Given the description of an element on the screen output the (x, y) to click on. 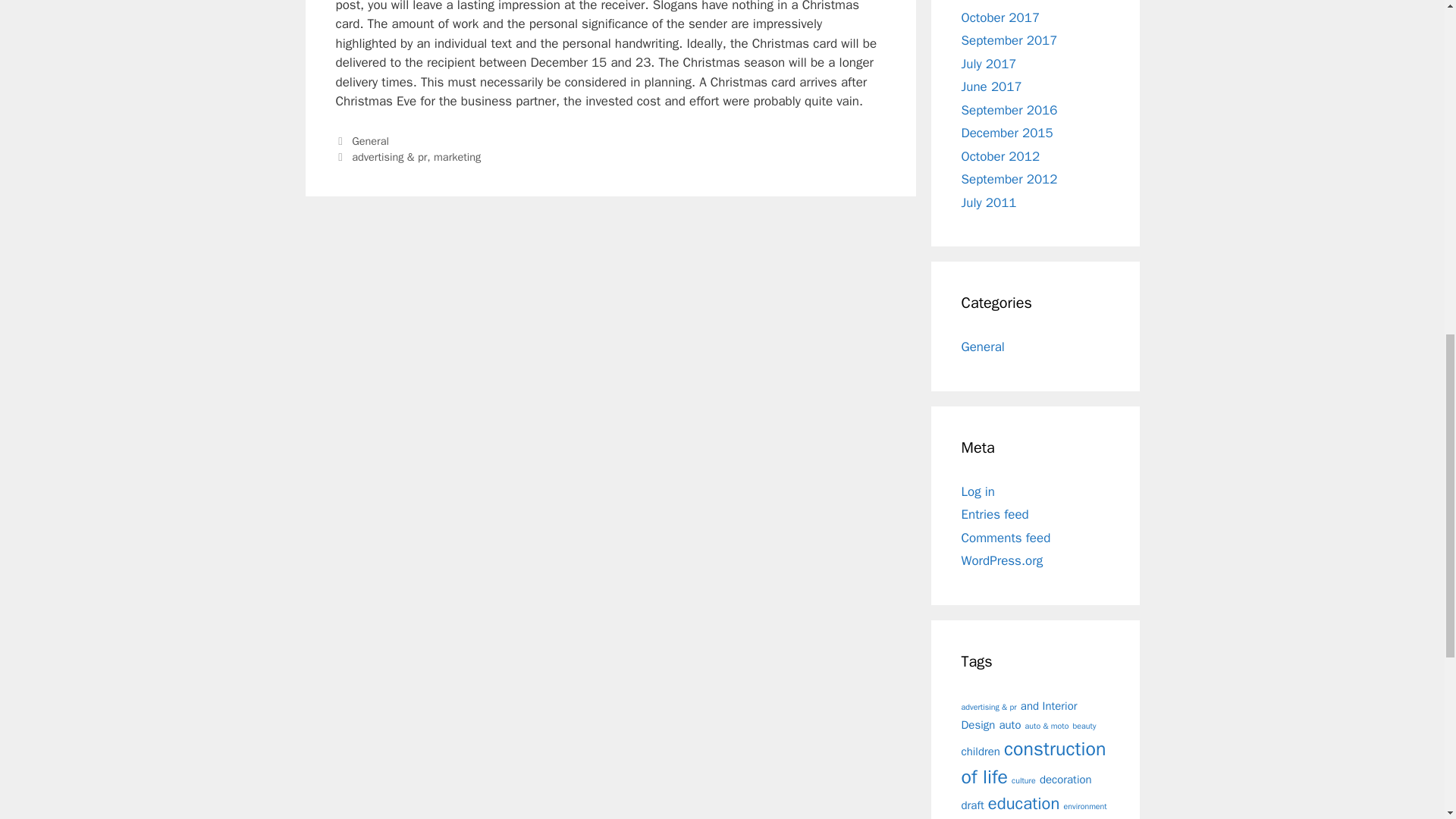
December 2015 (1006, 132)
September 2017 (1009, 40)
July 2011 (988, 201)
September 2012 (1009, 179)
November 2017 (1006, 1)
September 2016 (1009, 109)
October 2017 (1000, 17)
marketing (456, 156)
October 2012 (1000, 156)
General (370, 141)
